Given the description of an element on the screen output the (x, y) to click on. 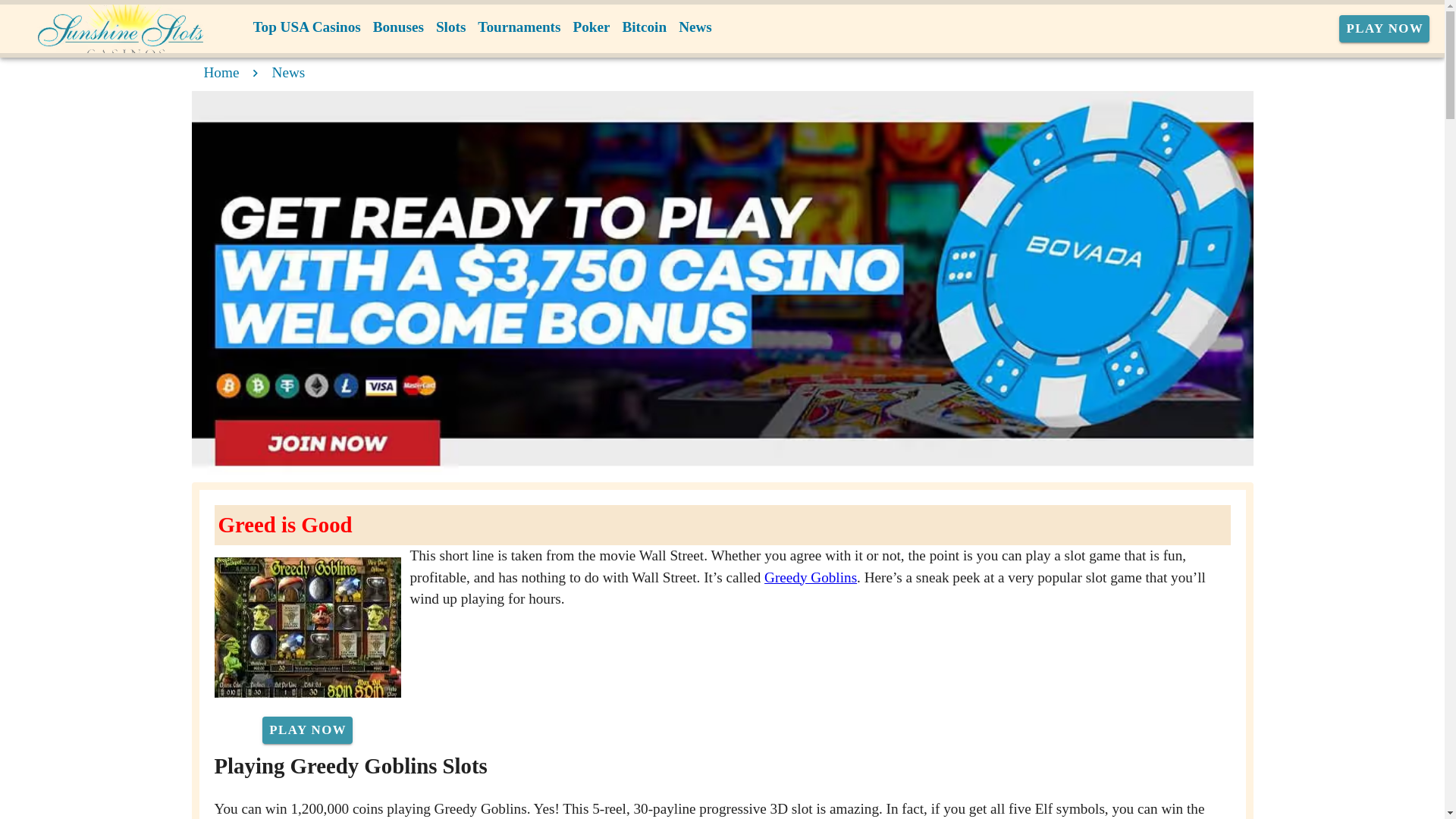
Top USA Casinos (306, 27)
News (694, 27)
Bonuses (397, 27)
News (288, 72)
Bitcoin (643, 27)
Slots (450, 27)
PLAY NOW (1384, 28)
Home (220, 72)
Greedy Goblins (810, 577)
Poker (590, 27)
